Given the description of an element on the screen output the (x, y) to click on. 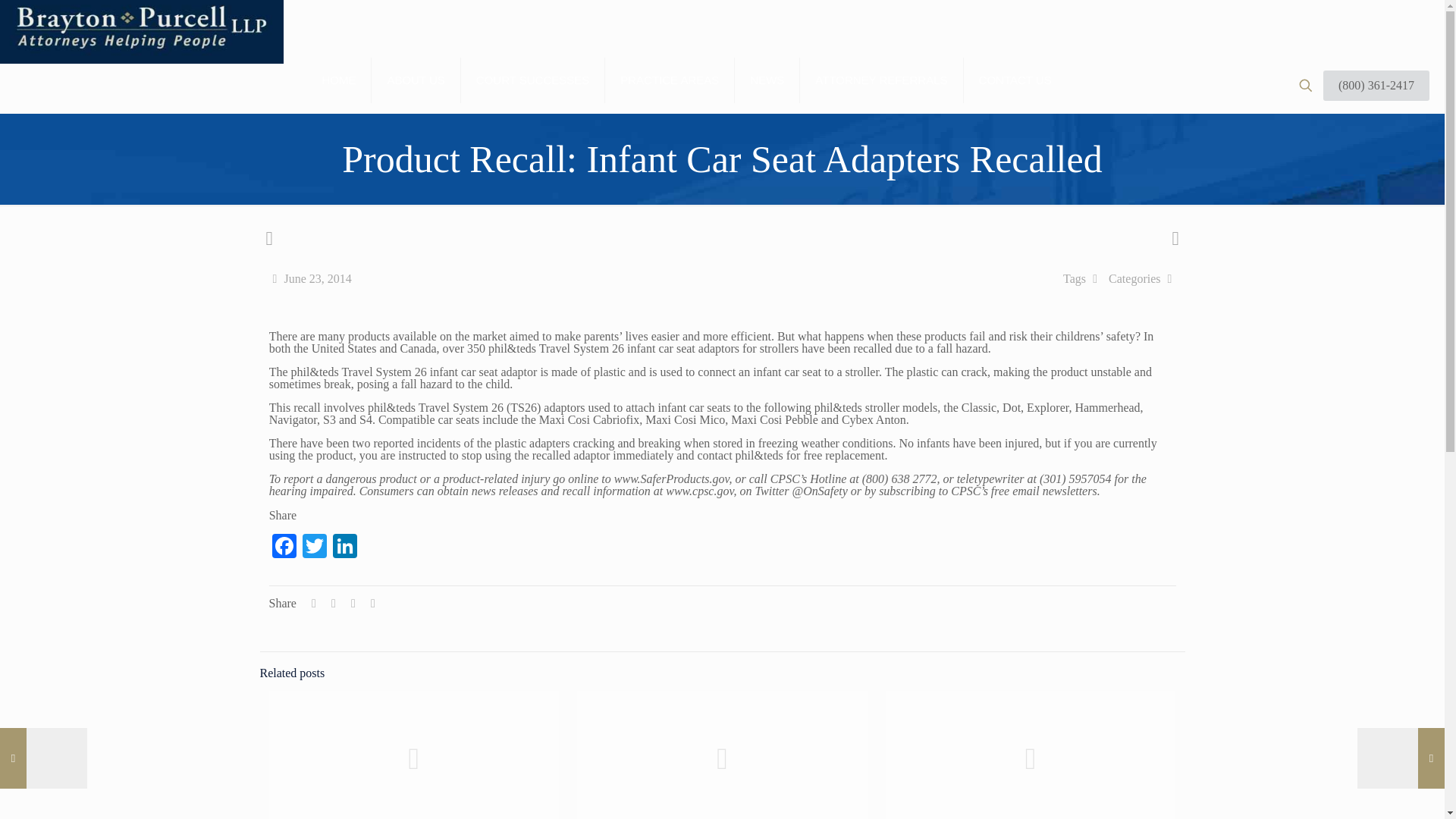
HOME (338, 79)
Brayton Purcell LLP (141, 85)
Facebook (284, 547)
Spanish Site (44, 22)
Twitter (314, 547)
LinkedIn (344, 547)
ABOUT US (415, 79)
COURT SUCCESSES (533, 79)
PRACTICE AREAS (670, 79)
